Given the description of an element on the screen output the (x, y) to click on. 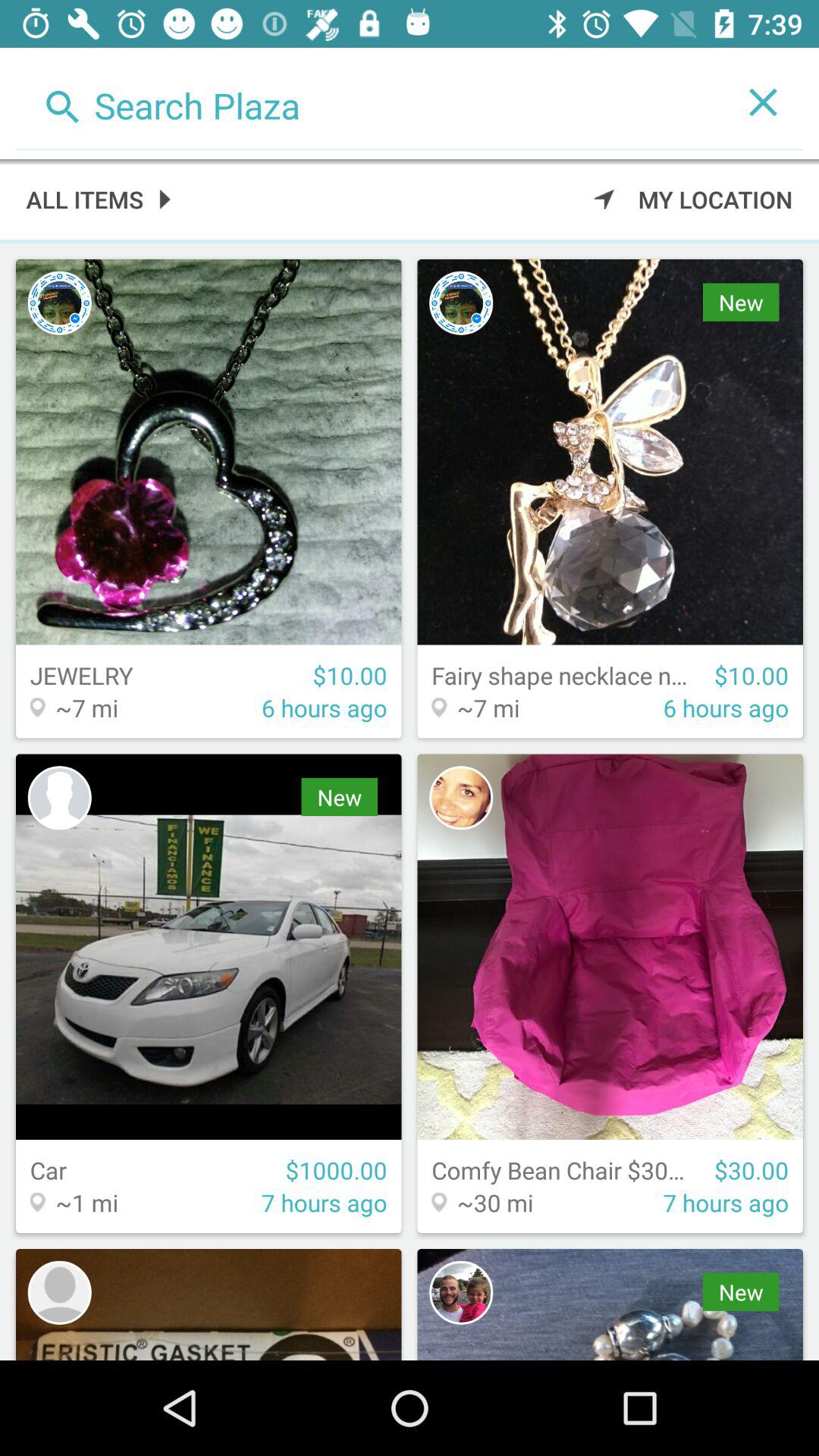
view profile (461, 797)
